Given the description of an element on the screen output the (x, y) to click on. 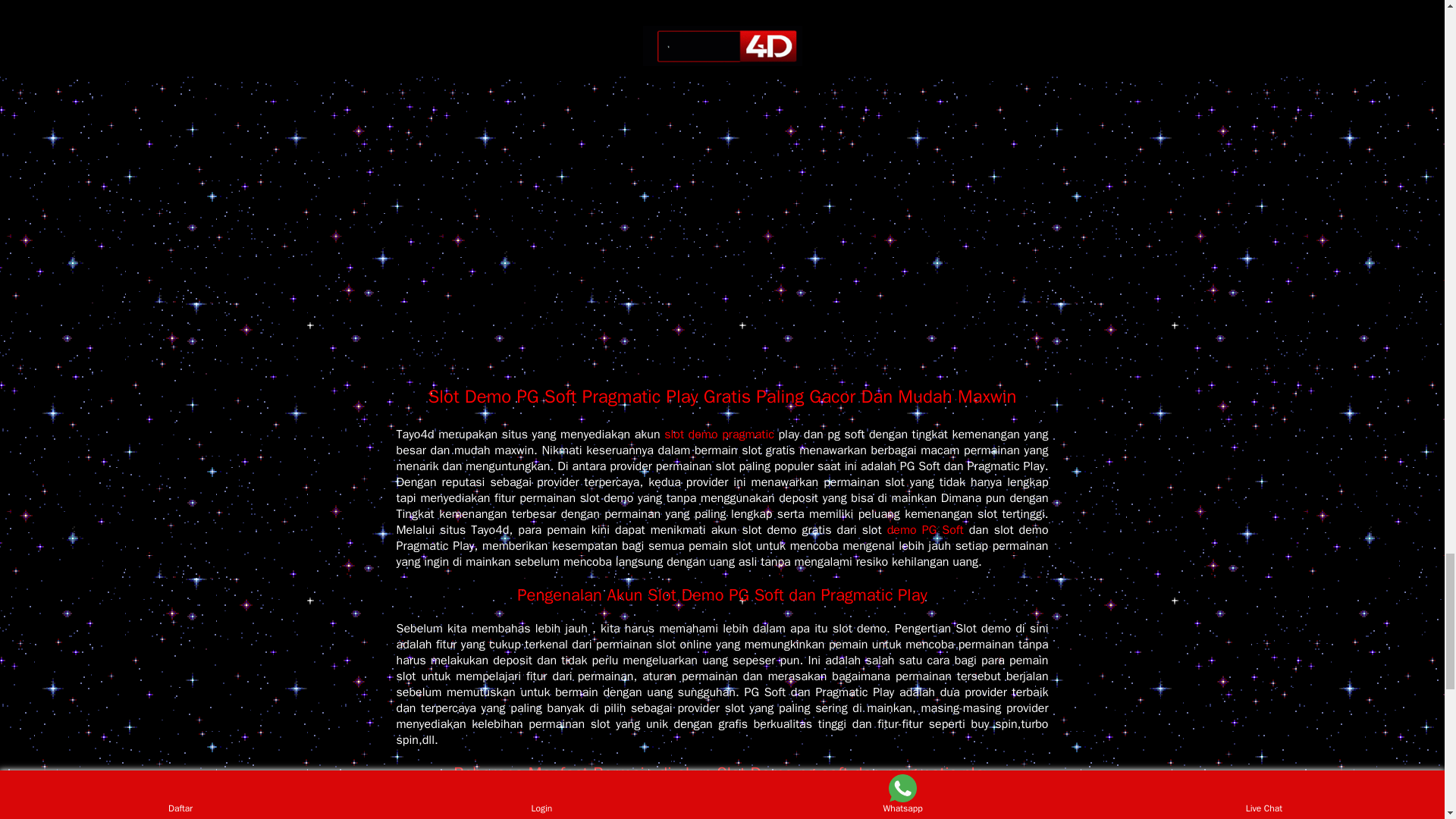
Tayo4d (722, 312)
